Given the description of an element on the screen output the (x, y) to click on. 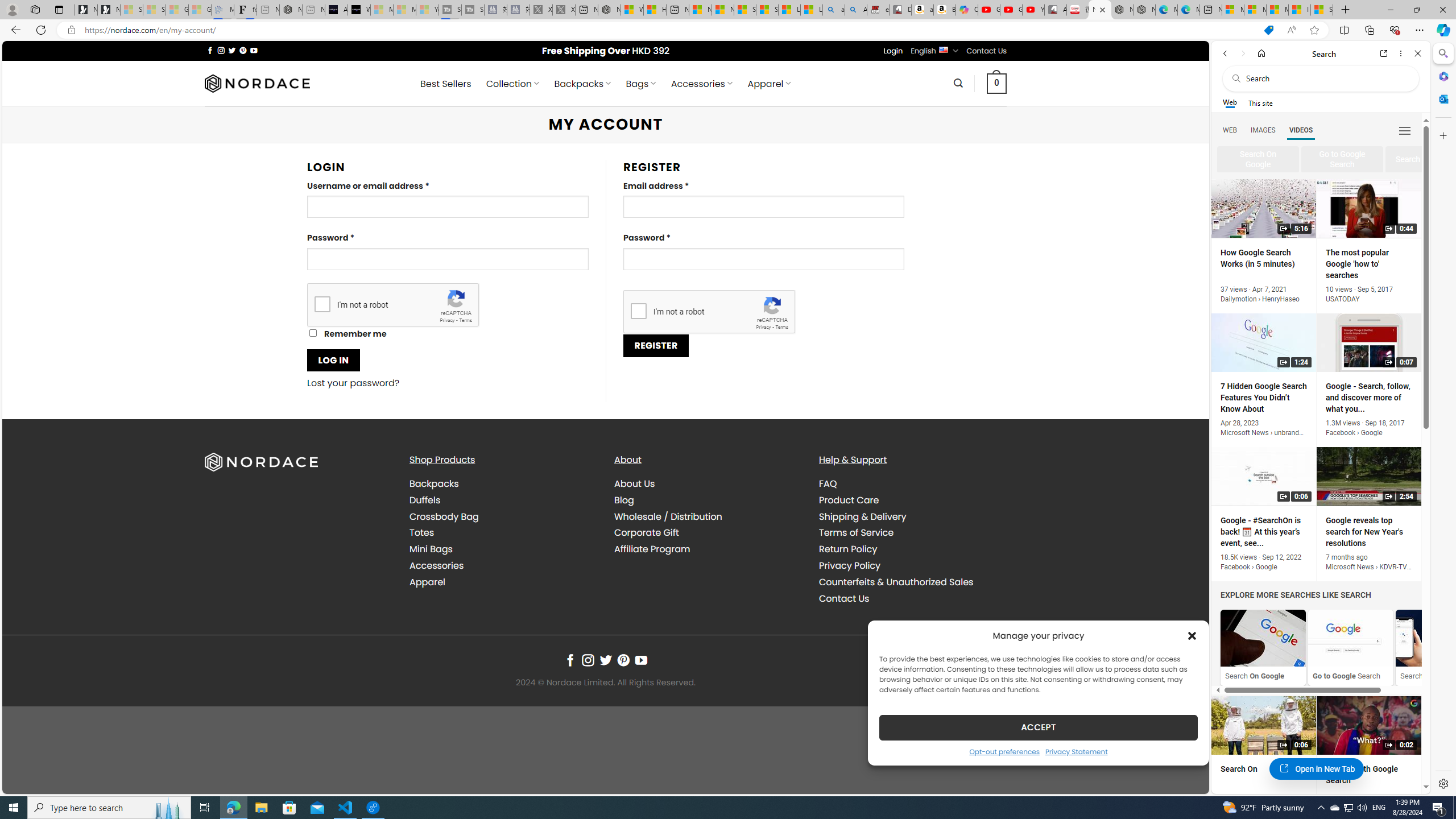
Totes (502, 532)
Web scope (1230, 102)
Lost your password? (353, 382)
Accessories (436, 565)
amazon - Search (834, 9)
Privacy Statement (1076, 750)
Gloom - YouTube (1010, 9)
Wholesale / Distribution (708, 516)
This site has coupons! Shopping in Microsoft Edge (1268, 29)
